Given the description of an element on the screen output the (x, y) to click on. 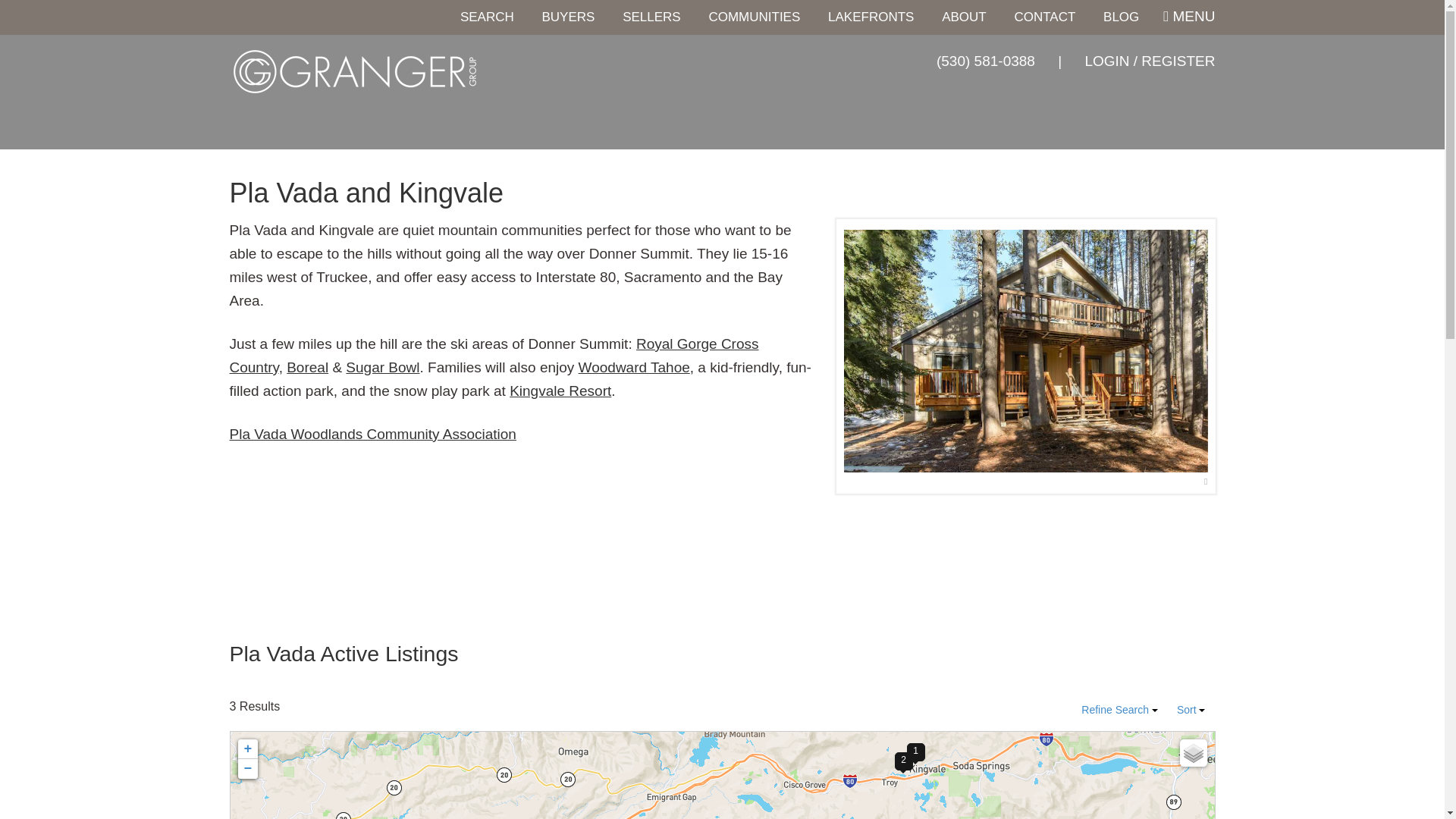
Layers (1193, 752)
Zoom in (247, 749)
BUYERS (568, 17)
Zoom out (247, 768)
LAKEFRONTS (870, 17)
SEARCH (486, 17)
SELLERS (651, 17)
COMMUNITIES (753, 17)
